Given the description of an element on the screen output the (x, y) to click on. 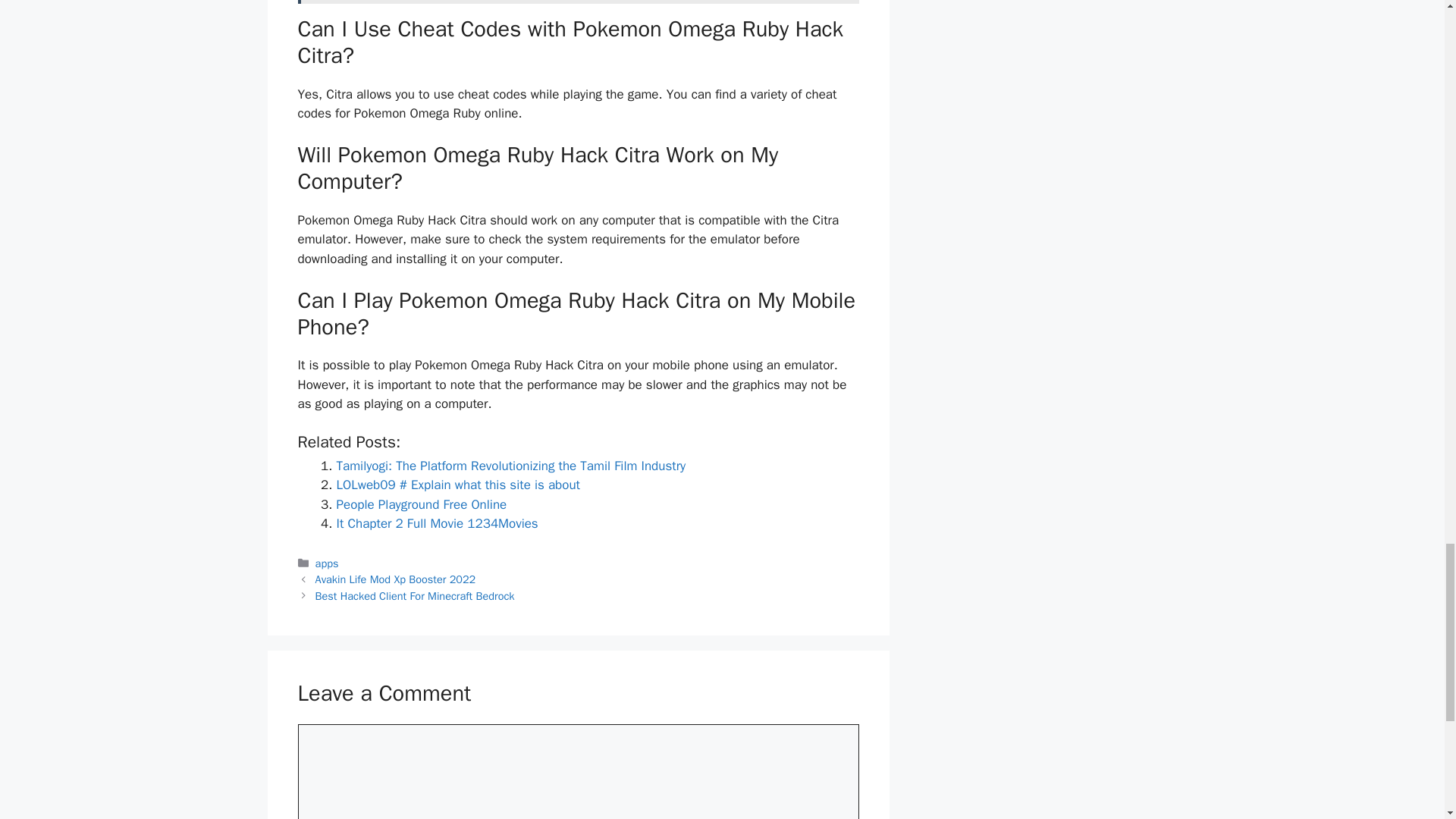
Avakin Life Mod Xp Booster 2022 (395, 579)
Best Hacked Client For Minecraft Bedrock (415, 595)
apps (327, 563)
People Playground Free Online (421, 504)
It Chapter 2 Full Movie 1234Movies (437, 523)
